Given the description of an element on the screen output the (x, y) to click on. 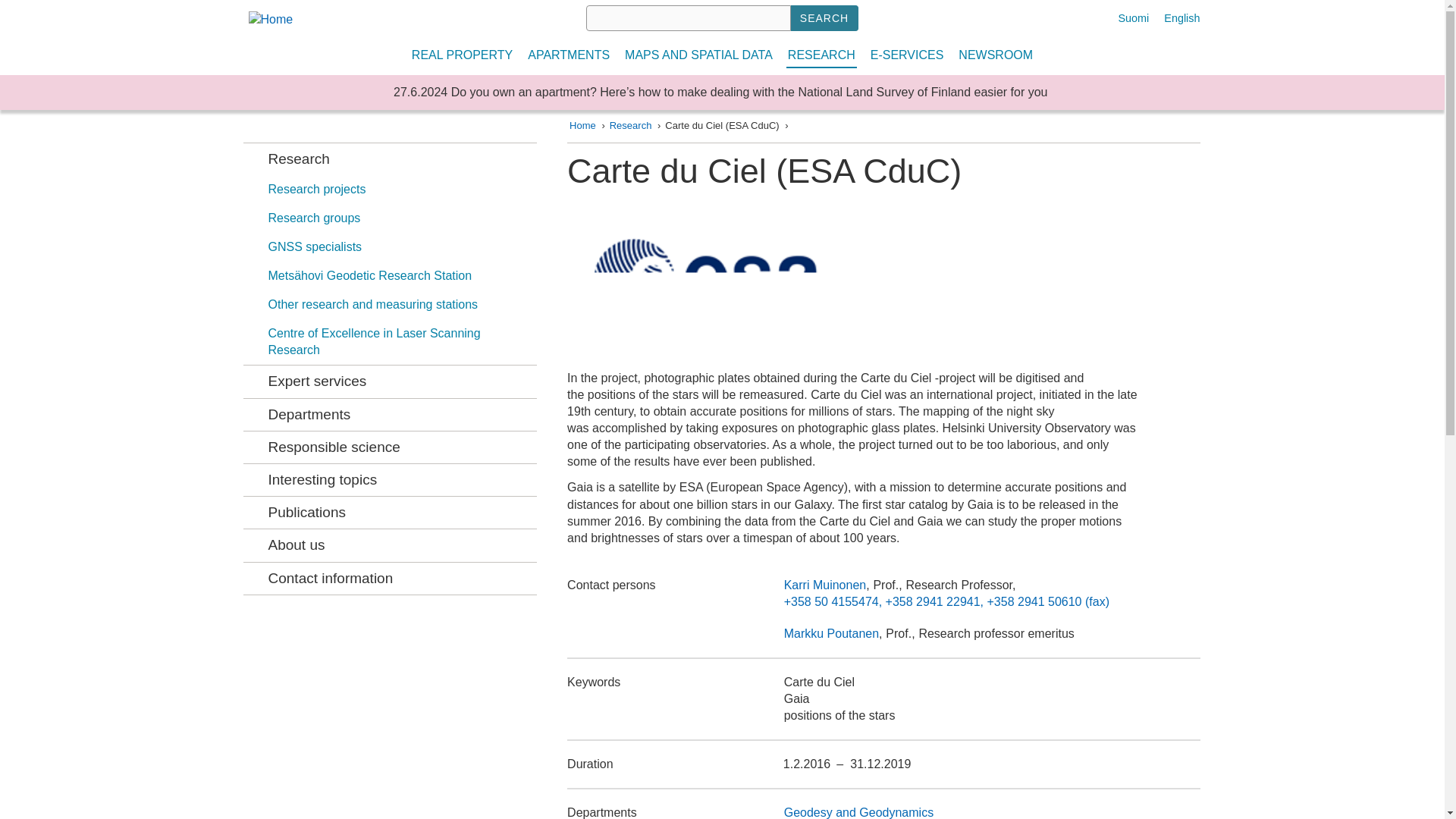
Suomi (1133, 18)
REAL PROPERTY (461, 54)
Other research and measuring stations (398, 304)
Search (824, 17)
MAPS AND SPATIAL DATA (698, 54)
NATIONAL LAND SURVEY OF FINLAND (296, 37)
Home (296, 37)
Centre of Excellence in Laser Scanning Research (398, 341)
Research groups (398, 217)
RESEARCH (821, 54)
